Given the description of an element on the screen output the (x, y) to click on. 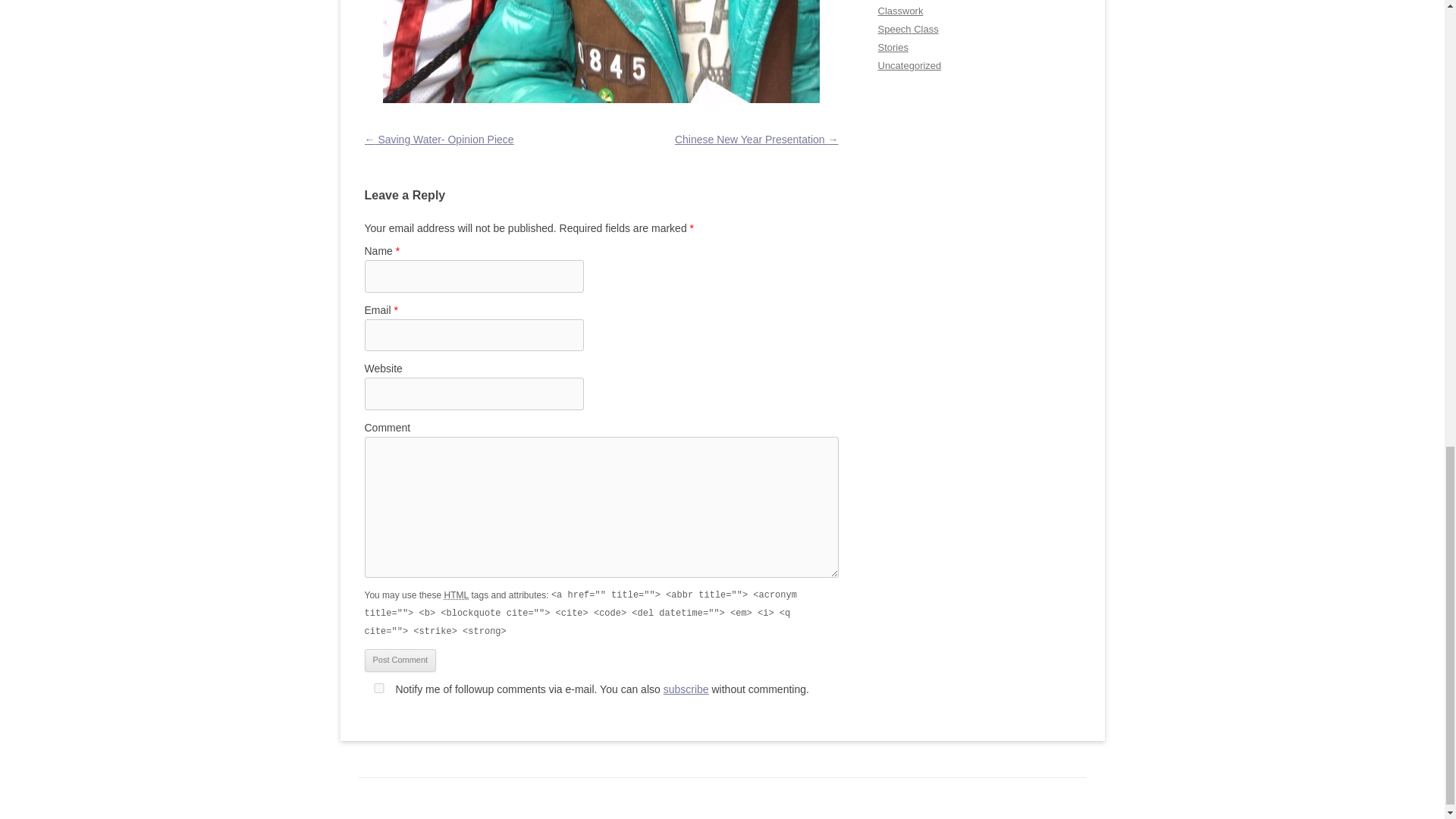
Uncategorized (909, 65)
yes (378, 687)
Speech Class (908, 29)
Stories (892, 47)
Post Comment (399, 660)
Post Comment (399, 660)
HyperText Markup Language (456, 594)
subscribe (686, 689)
Classwork (900, 10)
